Given the description of an element on the screen output the (x, y) to click on. 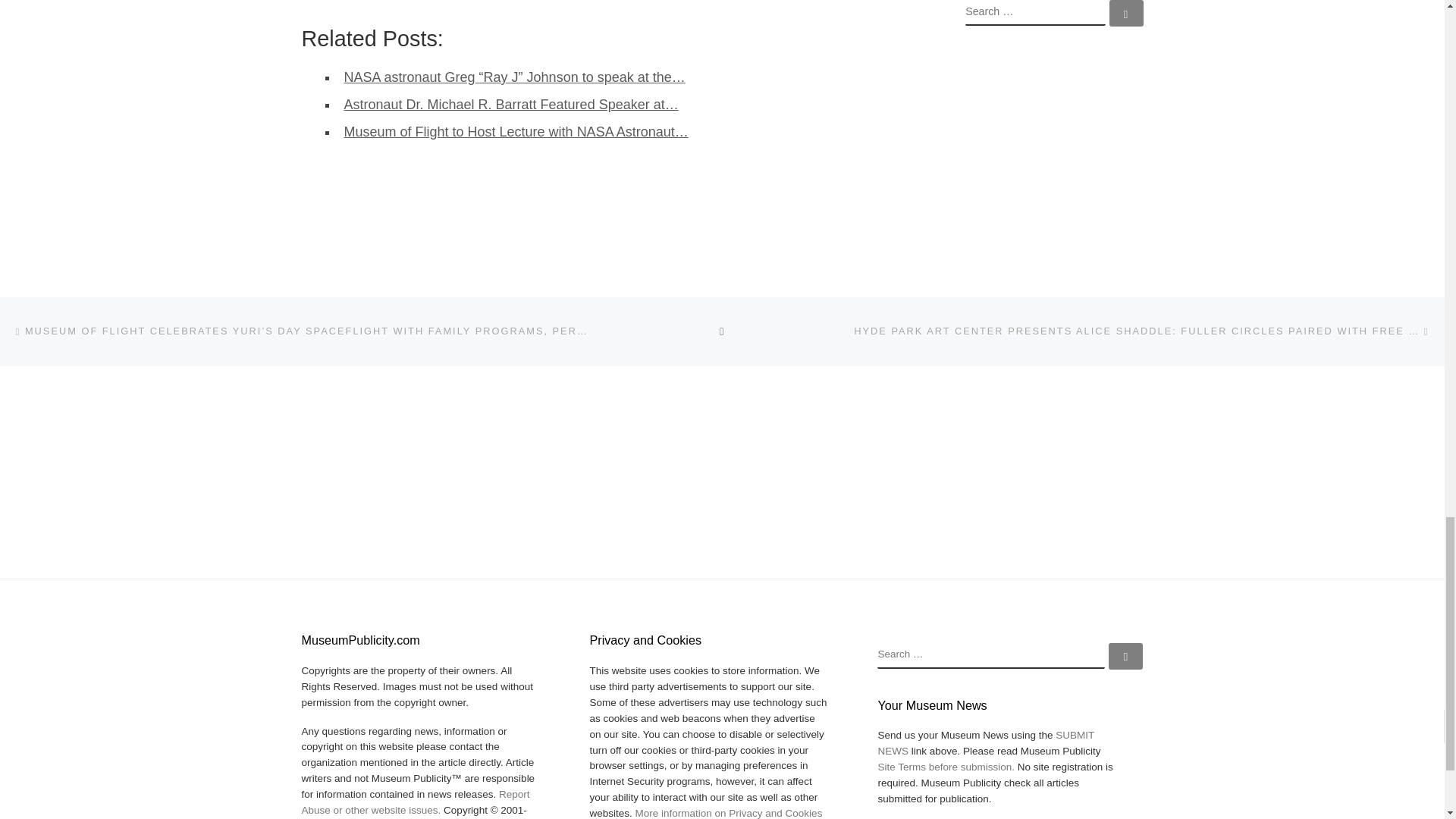
BACK TO POST LIST (722, 331)
Back to post list (722, 331)
